Given the description of an element on the screen output the (x, y) to click on. 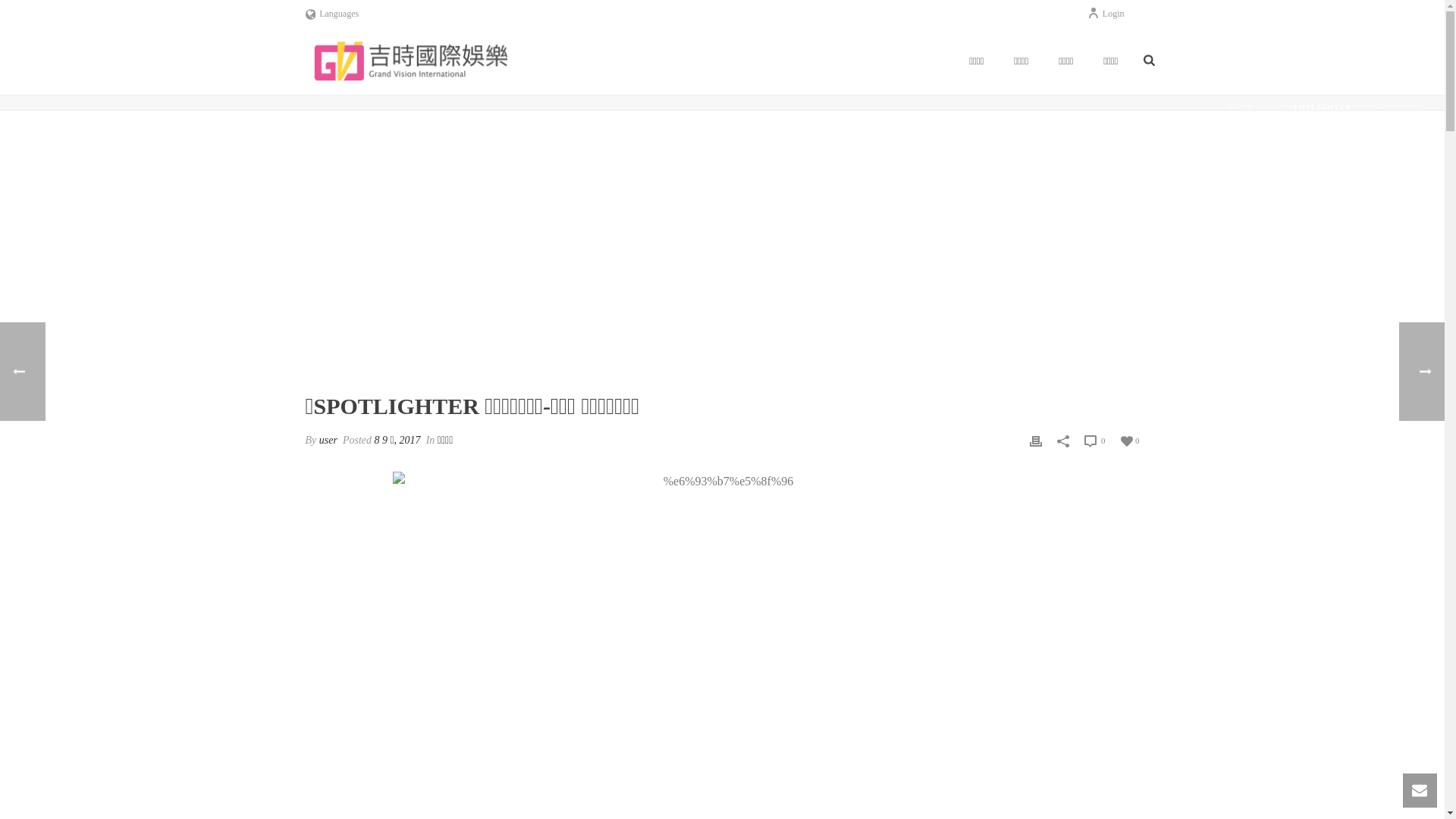
0 Element type: text (1129, 439)
Print Element type: hover (1035, 439)
  Element type: text (721, 262)
0 Element type: text (1094, 440)
Languages Element type: text (331, 13)
user Element type: text (328, 439)
Login Element type: text (1105, 13)
HOME Element type: text (1240, 107)
